Given the description of an element on the screen output the (x, y) to click on. 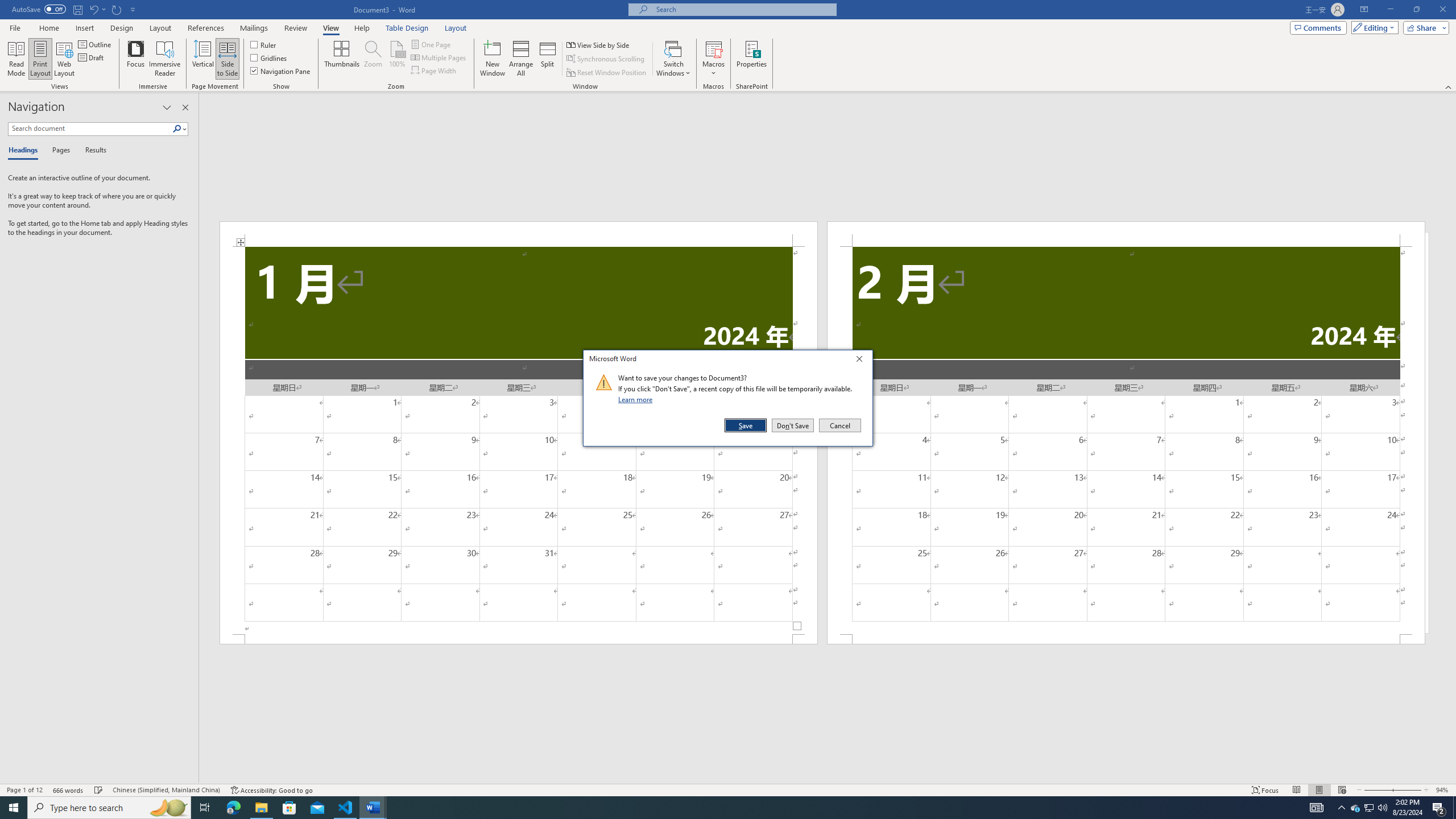
File Explorer - 1 running window (261, 807)
Q2790: 100% (1382, 807)
Action Center, 2 new notifications (1439, 807)
Repeat Doc Close (117, 9)
Arrange All (521, 58)
Page Width (434, 69)
Focus (135, 58)
Word - 2 running windows (373, 807)
